Given the description of an element on the screen output the (x, y) to click on. 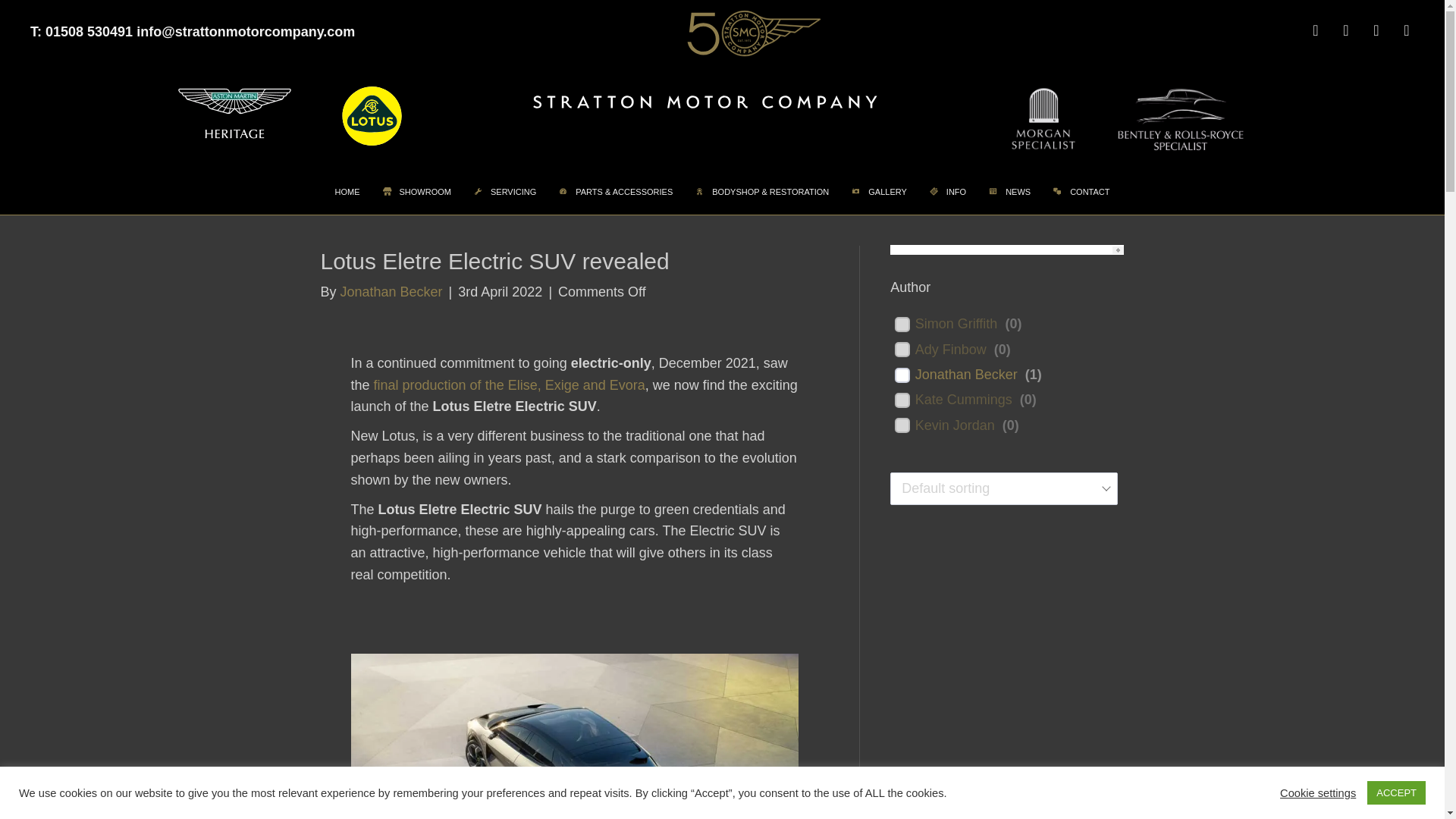
on (902, 425)
on (902, 349)
SERVICING (505, 191)
Lotus-eletre-electric-SUV (573, 736)
BENTLEYRR RGB WHITEBG (1180, 119)
AMartinHeritageWhite e1621326306150 (234, 114)
stratton logo 2021 v4 1 (704, 103)
on (902, 400)
MORGAN RGB WHITEBG 1 (1043, 119)
SHOWROOM (417, 191)
